Given the description of an element on the screen output the (x, y) to click on. 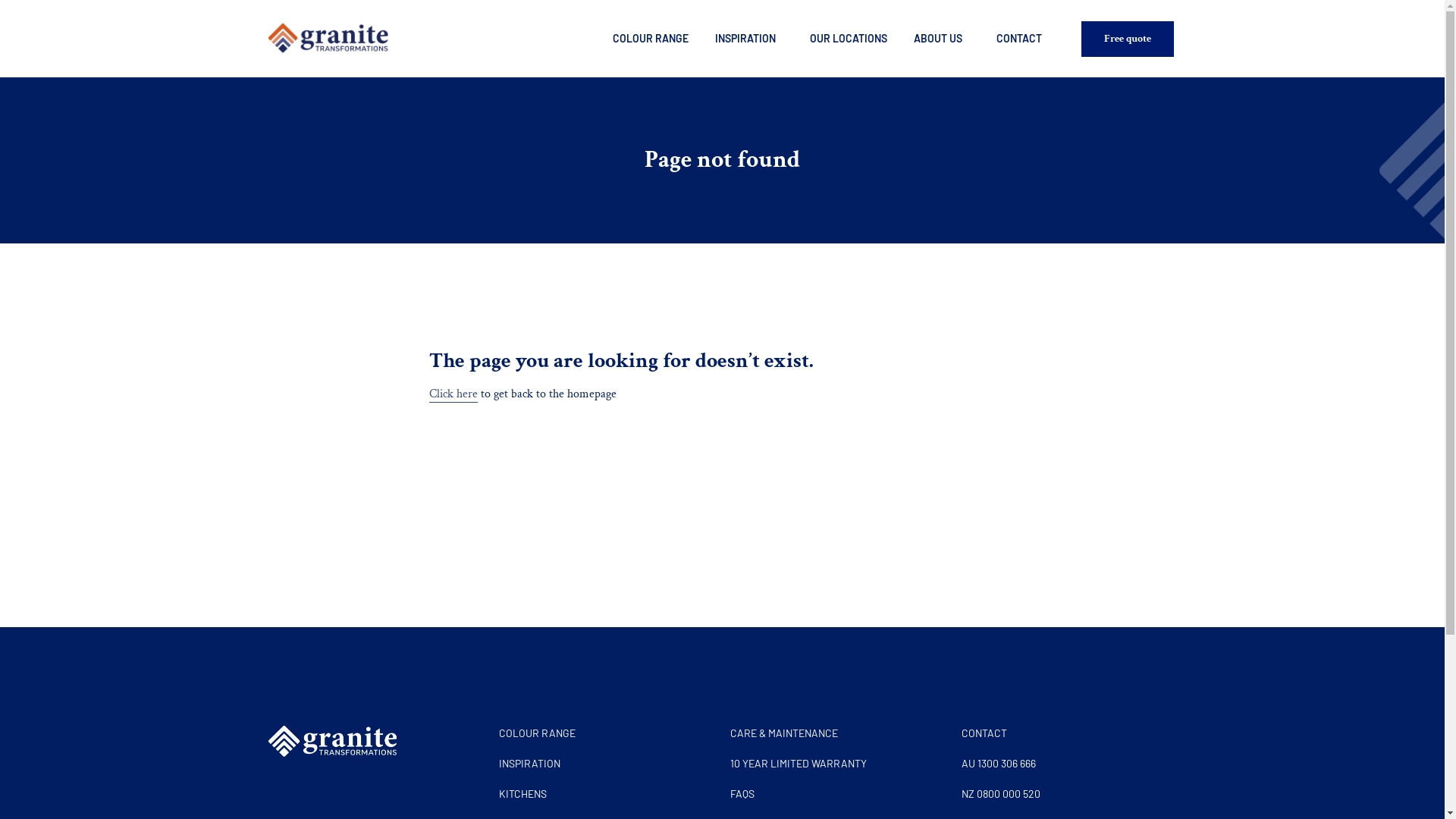
FAQS Element type: text (837, 793)
ABOUT US Element type: text (941, 38)
CONTACT Element type: text (1018, 38)
KITCHENS Element type: text (606, 793)
COLOUR RANGE Element type: text (650, 38)
CARE & MAINTENANCE Element type: text (837, 732)
INSPIRATION Element type: text (606, 763)
NZ 0800 000 520 Element type: text (1069, 793)
CONTACT Element type: text (1069, 732)
Click here Element type: text (453, 393)
COLOUR RANGE Element type: text (606, 732)
10 YEAR LIMITED WARRANTY Element type: text (837, 763)
OUR LOCATIONS Element type: text (848, 38)
AU 1300 306 666 Element type: text (1069, 763)
INSPIRATION Element type: text (749, 38)
Free quote Element type: text (1127, 38)
